Given the description of an element on the screen output the (x, y) to click on. 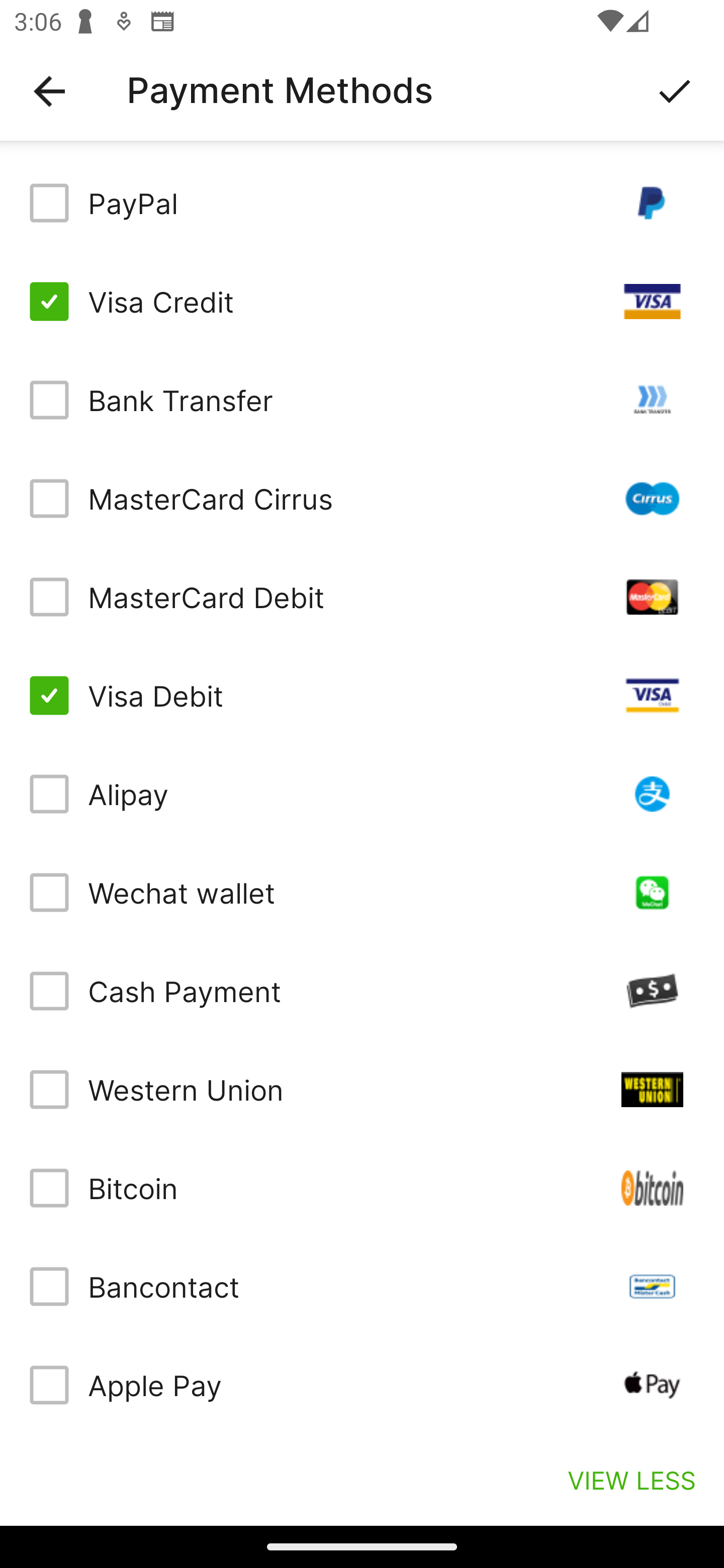
PayPal (362, 202)
Visa Credit (362, 301)
Bank Transfer (362, 400)
MasterCard Cirrus (362, 498)
MasterCard Debit (362, 596)
Visa Debit (362, 695)
Alipay (362, 793)
Wechat wallet (362, 892)
Cash Payment (362, 990)
Western Union (362, 1088)
Bitcoin (362, 1187)
Bancontact (362, 1286)
Apple Pay (362, 1384)
VIEW LESS (631, 1479)
